Given the description of an element on the screen output the (x, y) to click on. 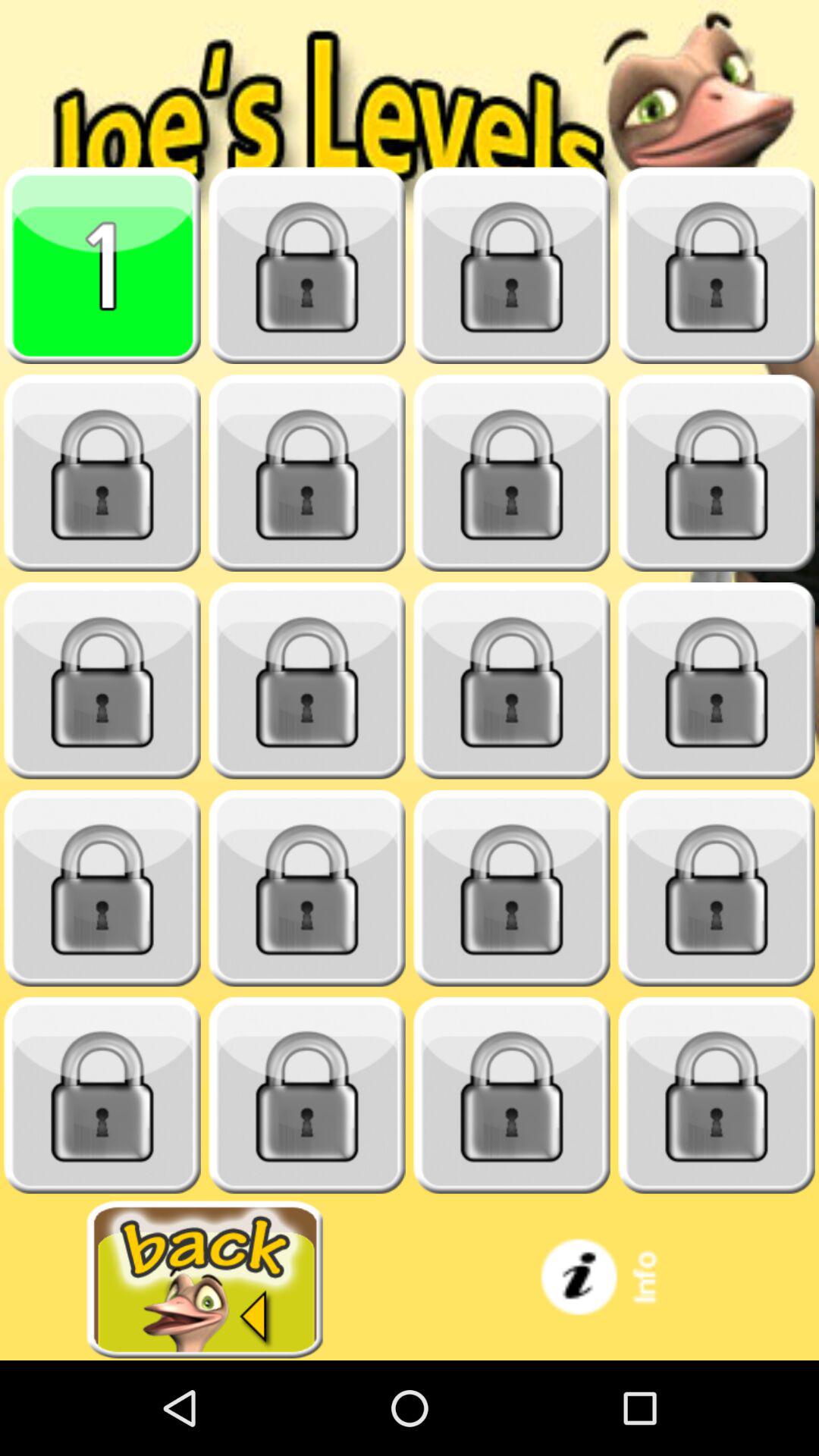
information (614, 1279)
